Given the description of an element on the screen output the (x, y) to click on. 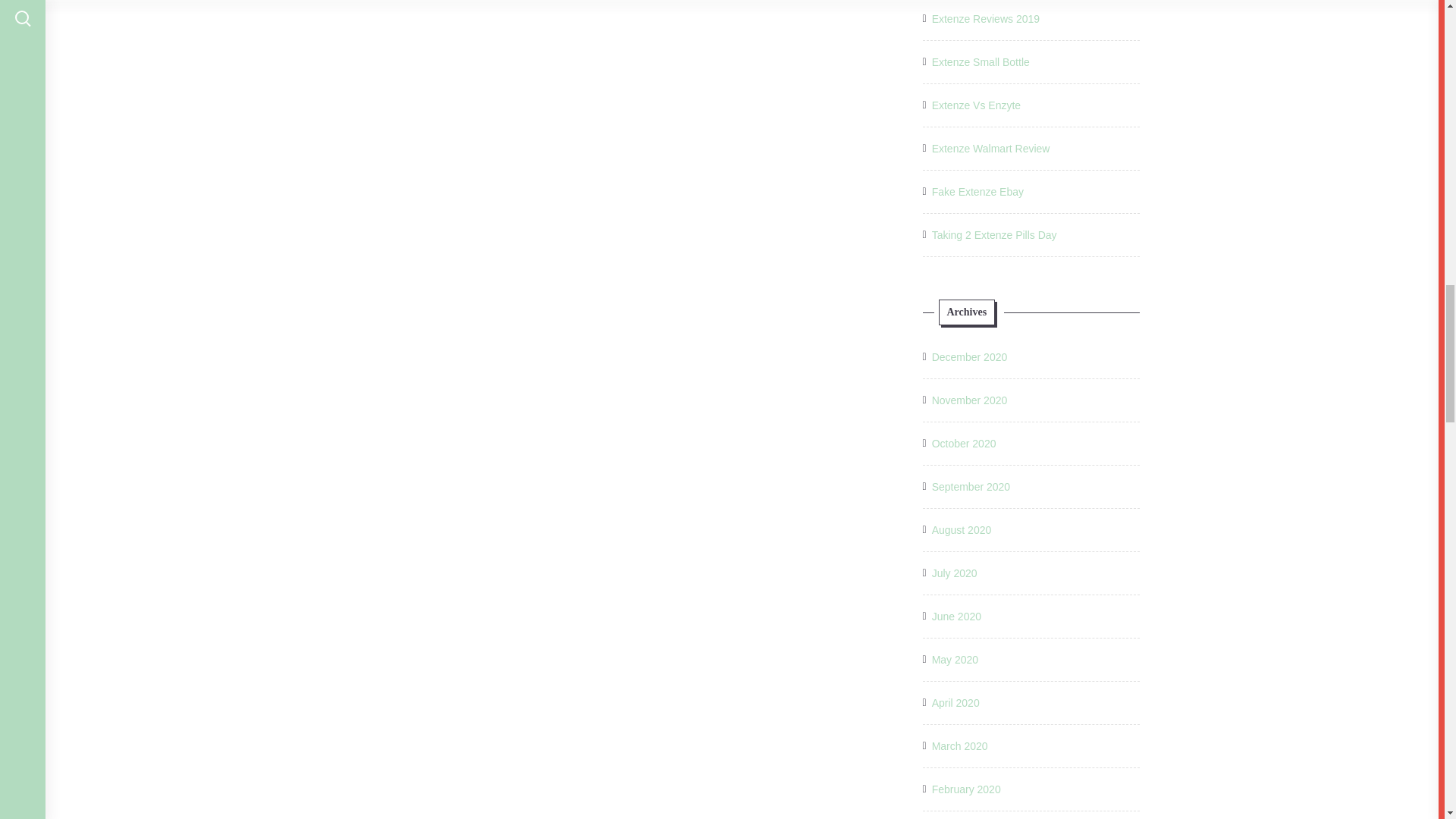
Extenze Reviews 2019 (985, 18)
Extenze Small Bottle (980, 61)
